Given the description of an element on the screen output the (x, y) to click on. 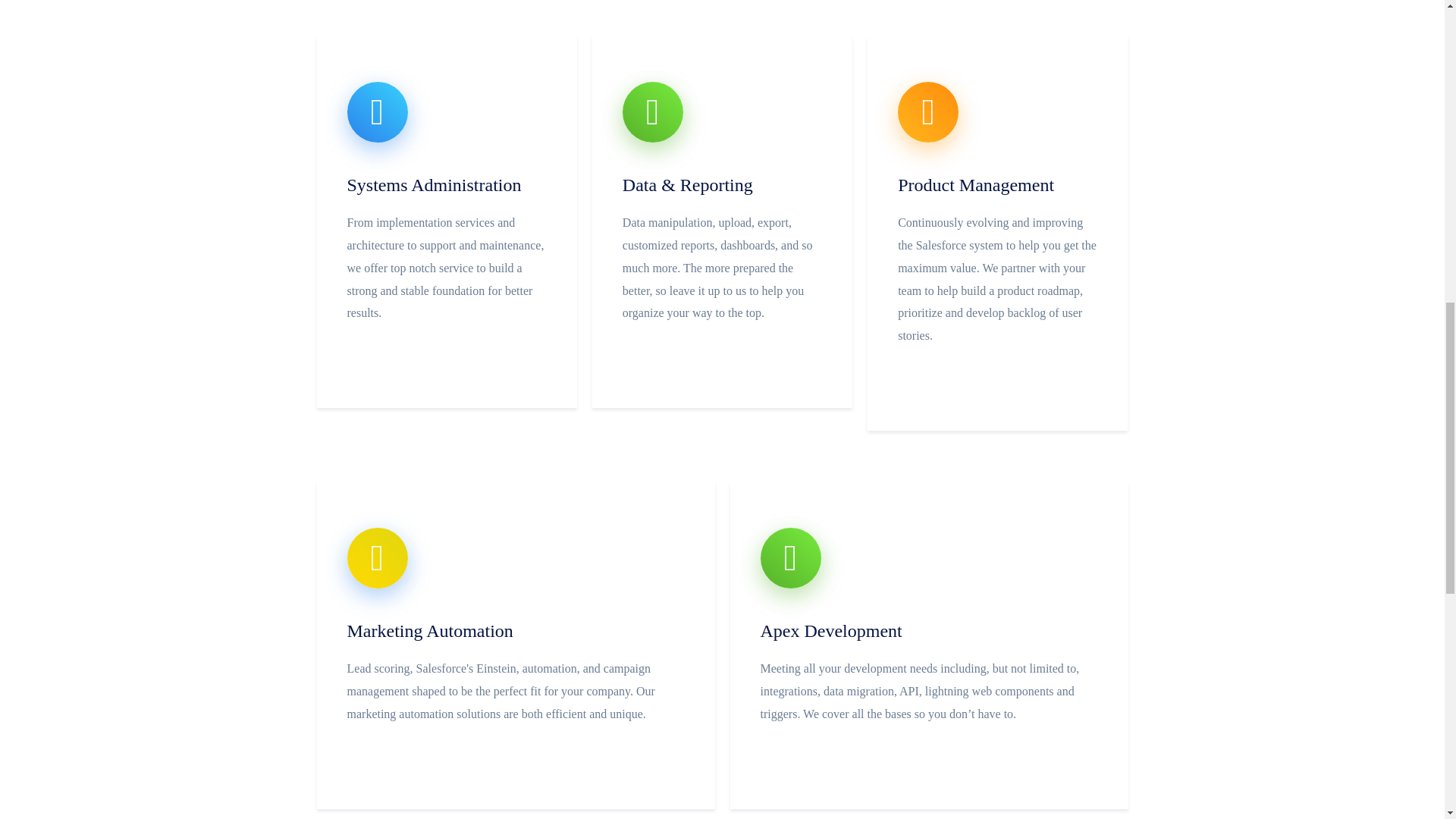
Product Management (976, 184)
Marketing Automation (430, 630)
Systems Administration (434, 184)
Apex Development (830, 630)
